Given the description of an element on the screen output the (x, y) to click on. 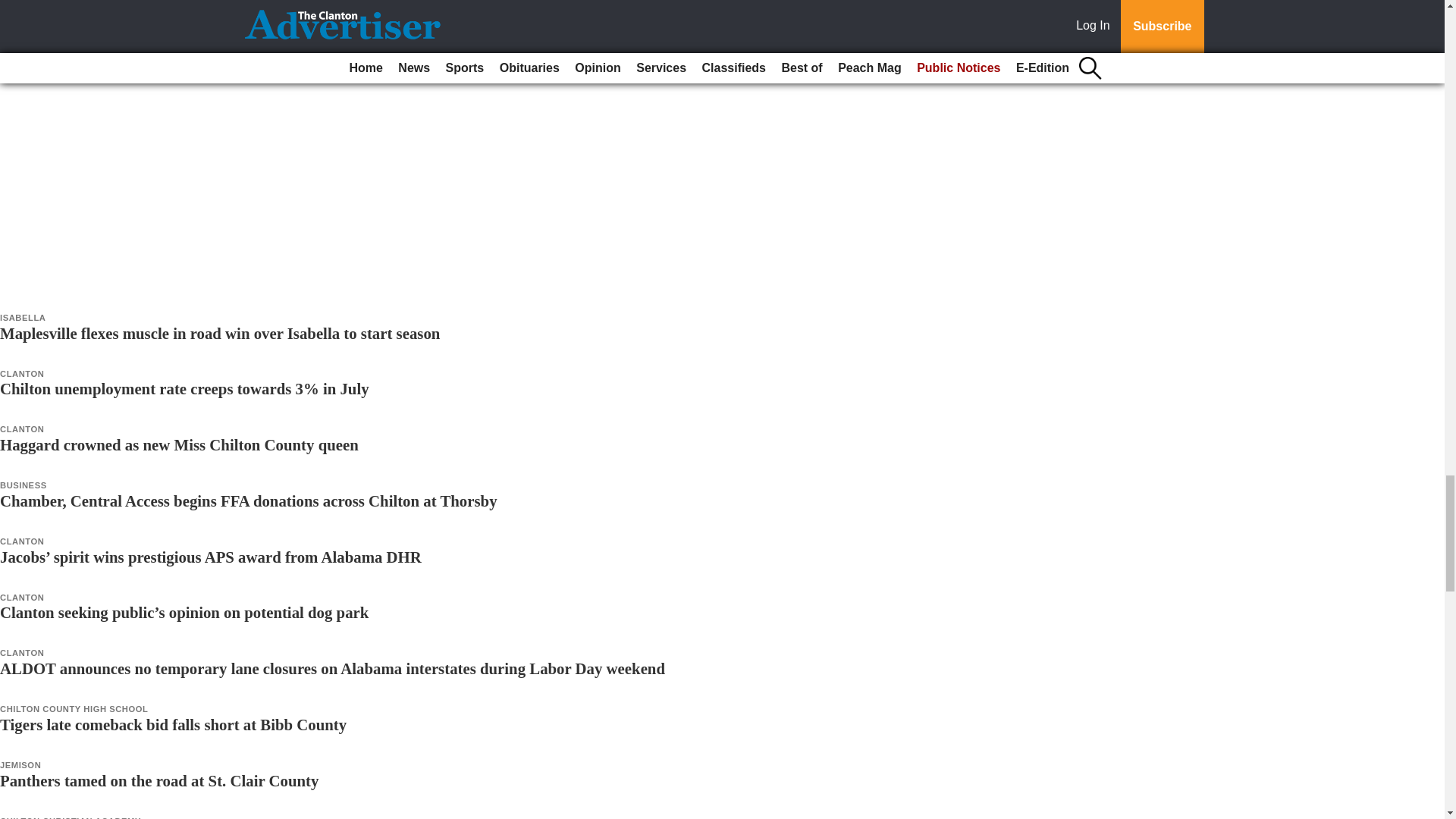
Tigers late comeback bid falls short at Bibb County (173, 724)
Panthers tamed on the road at St. Clair County (159, 780)
Haggard crowned as new Miss Chilton County queen (179, 444)
Haggard crowned as new Miss Chilton County queen (179, 444)
